Given the description of an element on the screen output the (x, y) to click on. 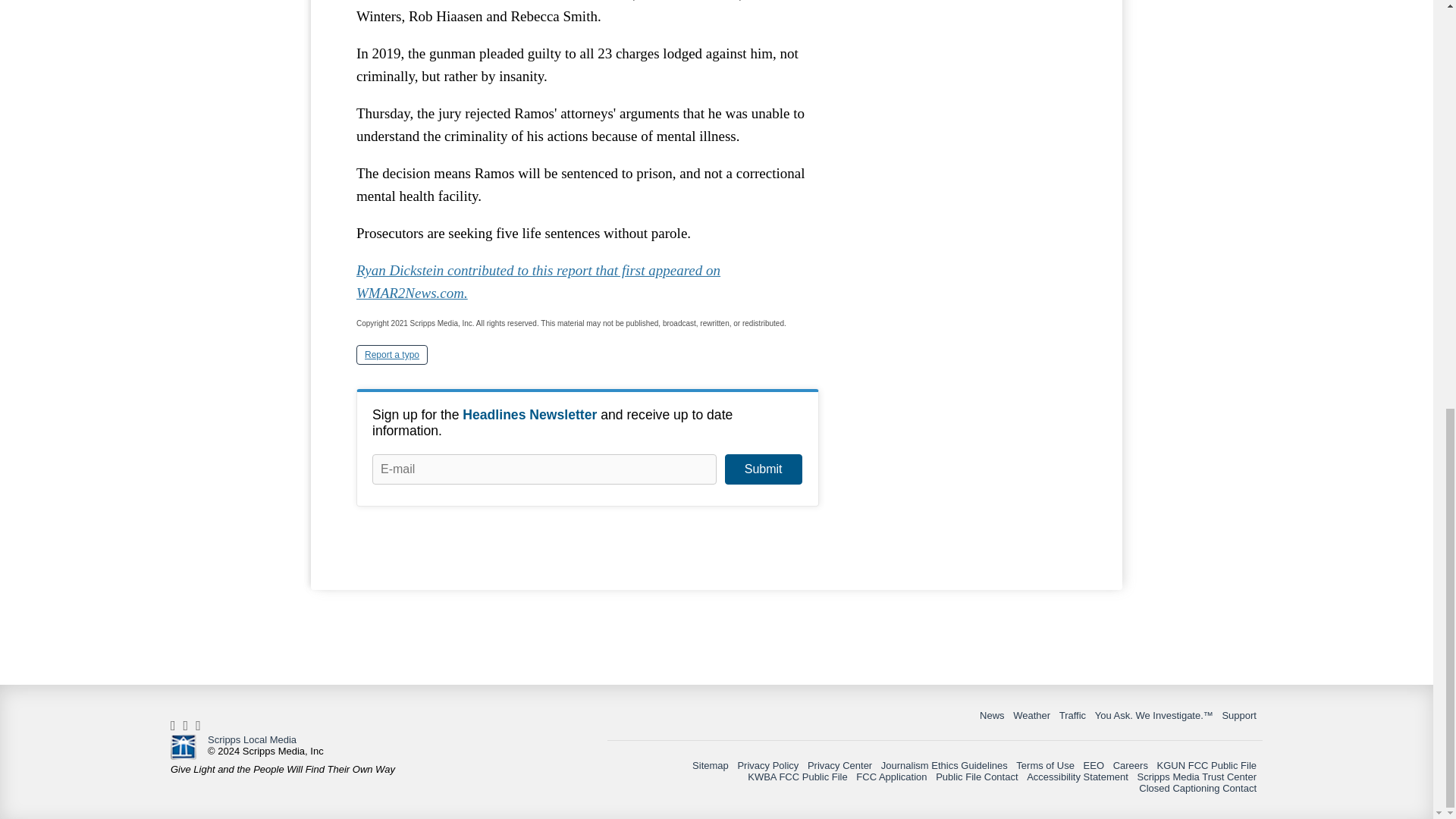
Submit (763, 469)
